Given the description of an element on the screen output the (x, y) to click on. 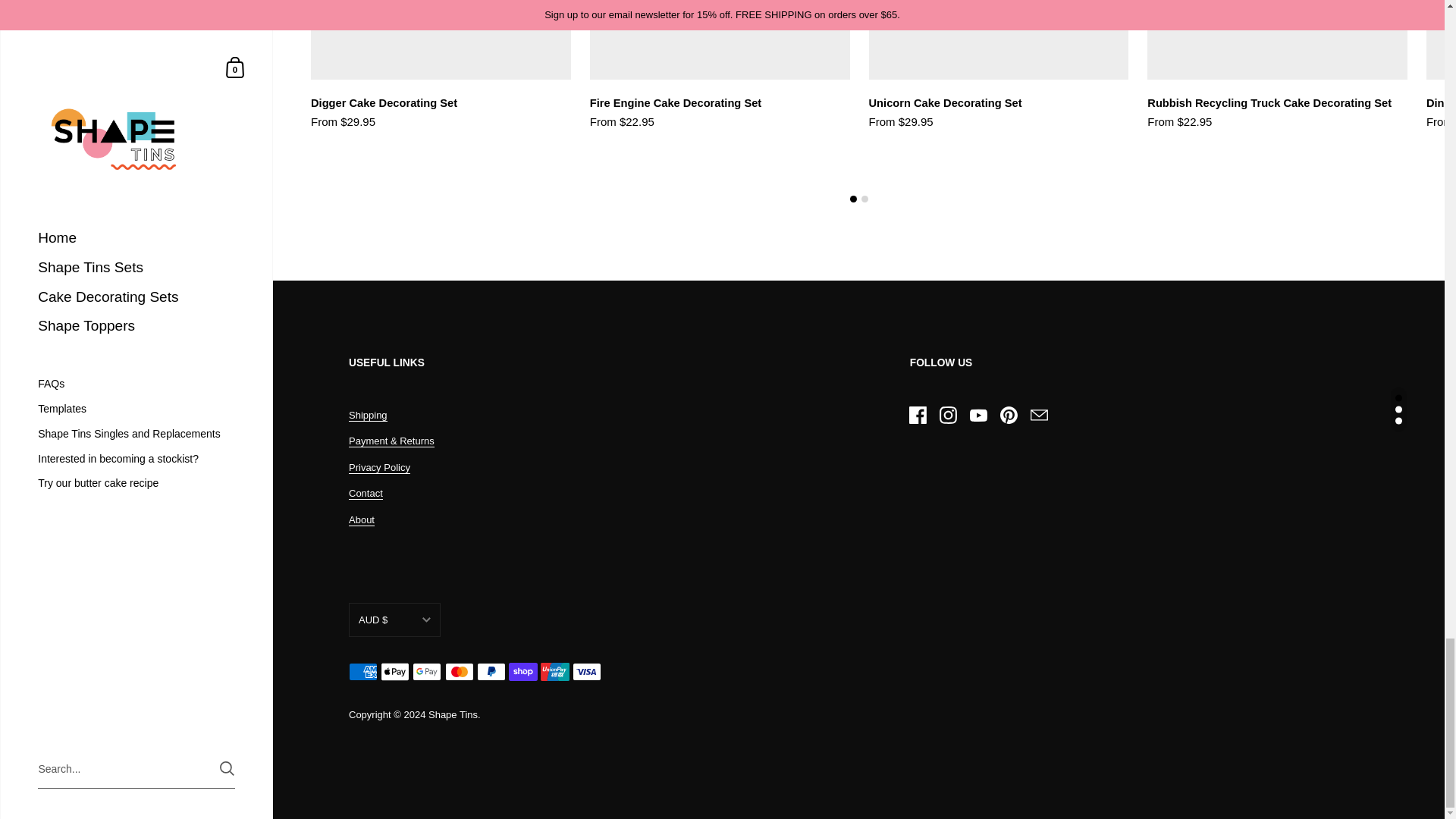
Privacy Policy (379, 467)
Contact (365, 493)
American Express (363, 671)
Union Pay (554, 671)
Shipping (368, 414)
Shop Pay (522, 671)
Apple Pay (394, 671)
Google Pay (426, 671)
Visa (586, 671)
PayPal (491, 671)
